Given the description of an element on the screen output the (x, y) to click on. 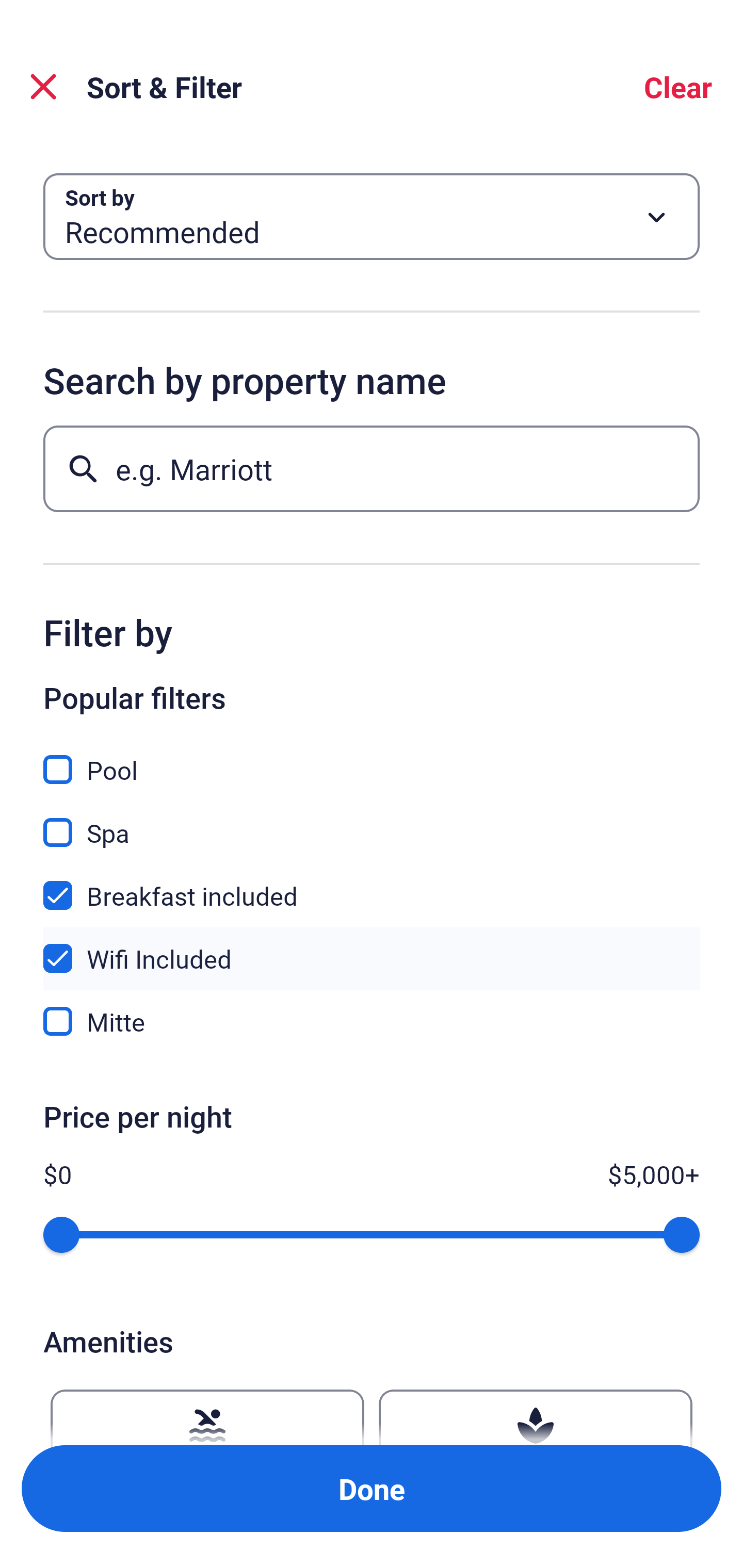
Close Sort and Filter (43, 86)
Clear (677, 86)
Sort by Button Recommended (371, 217)
e.g. Marriott Button (371, 468)
Pool, Pool (371, 757)
Spa, Spa (371, 821)
Breakfast included, Breakfast included (371, 883)
Wifi Included, Wifi Included (371, 946)
Mitte, Mitte (371, 1021)
Apply and close Sort and Filter Done (371, 1488)
